Given the description of an element on the screen output the (x, y) to click on. 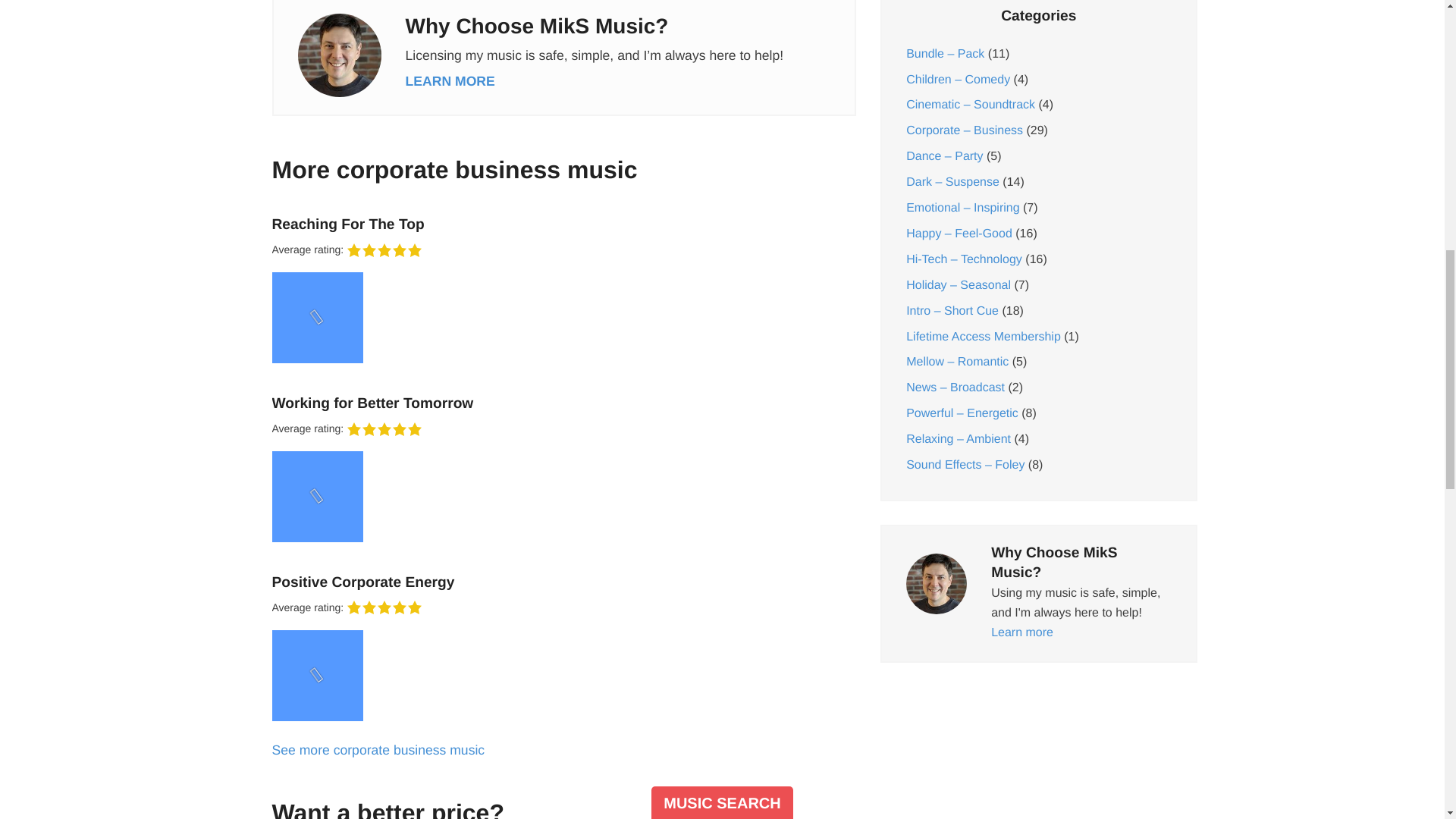
Similar music (377, 749)
Reaching For The Top (557, 224)
LEARN MORE (449, 80)
Learn more (449, 80)
